Given the description of an element on the screen output the (x, y) to click on. 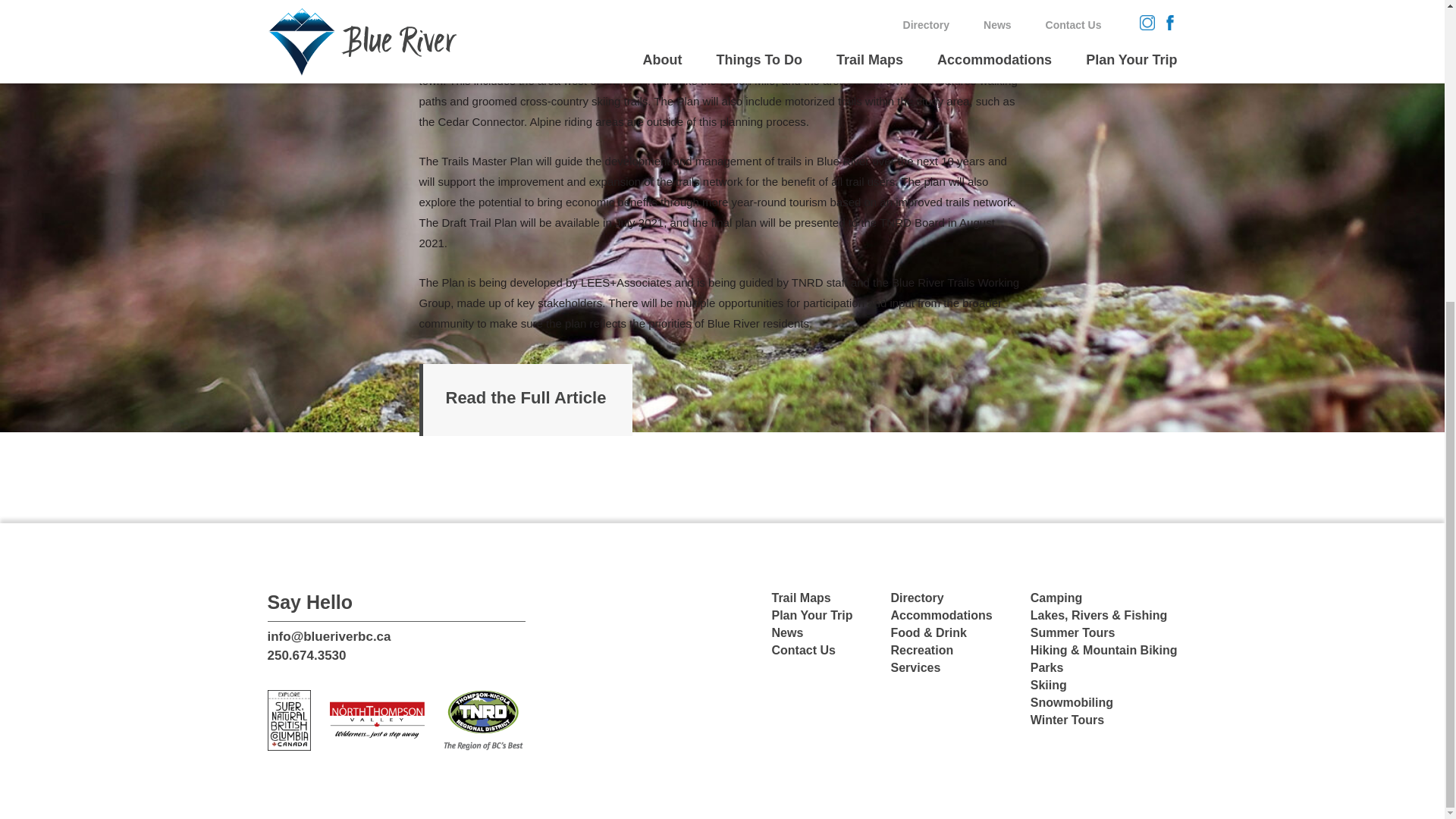
Plan Your Trip (812, 615)
Parks (1047, 667)
Trail Maps (801, 598)
News (787, 632)
Directory (916, 598)
Camping (1055, 598)
Contact Us (803, 650)
Recreation (921, 650)
Summer Tours (1072, 632)
Read the Full Article (525, 399)
